Given the description of an element on the screen output the (x, y) to click on. 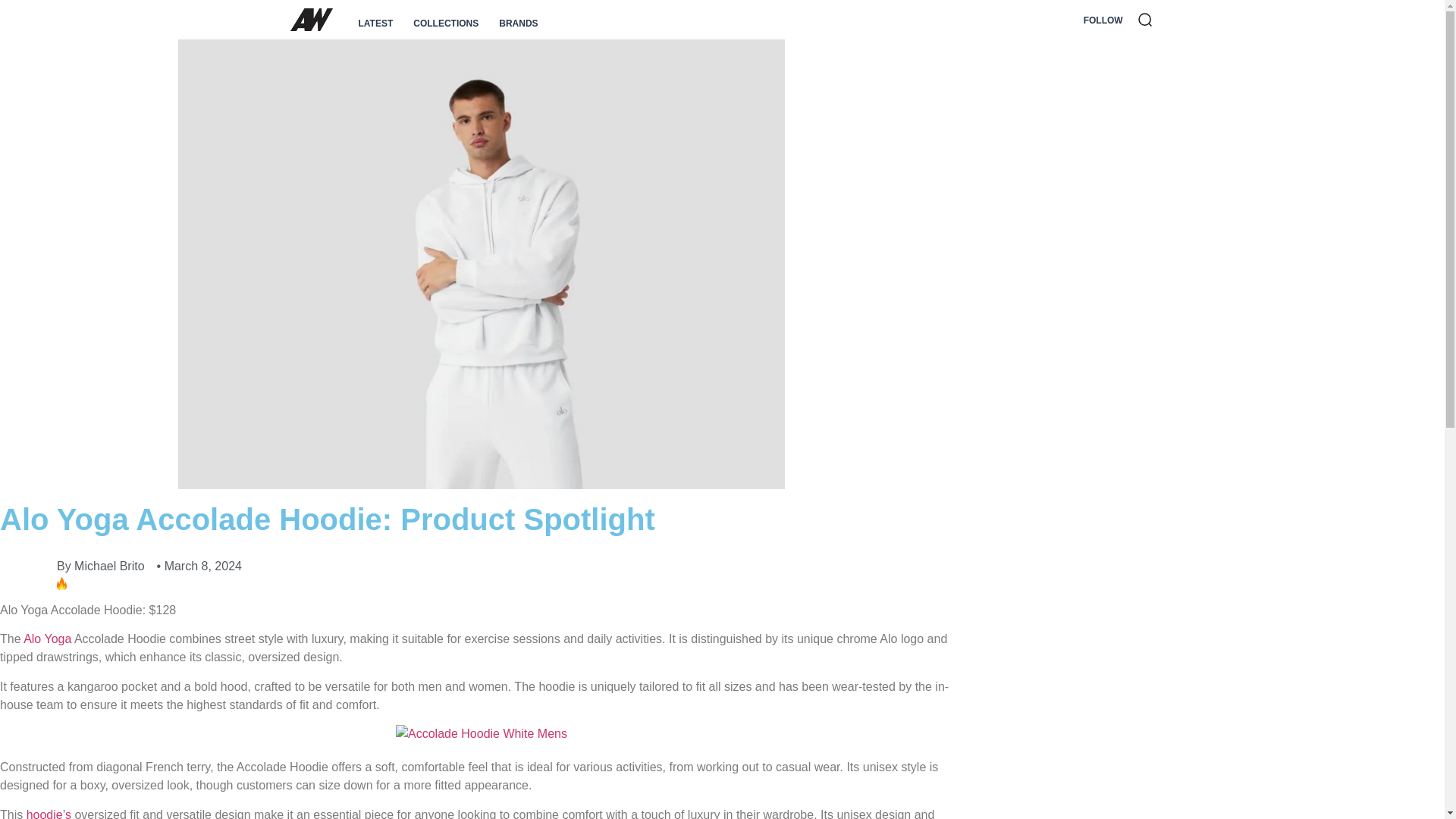
COLLECTIONS (446, 23)
LATEST (375, 23)
BRANDS (518, 23)
